Given the description of an element on the screen output the (x, y) to click on. 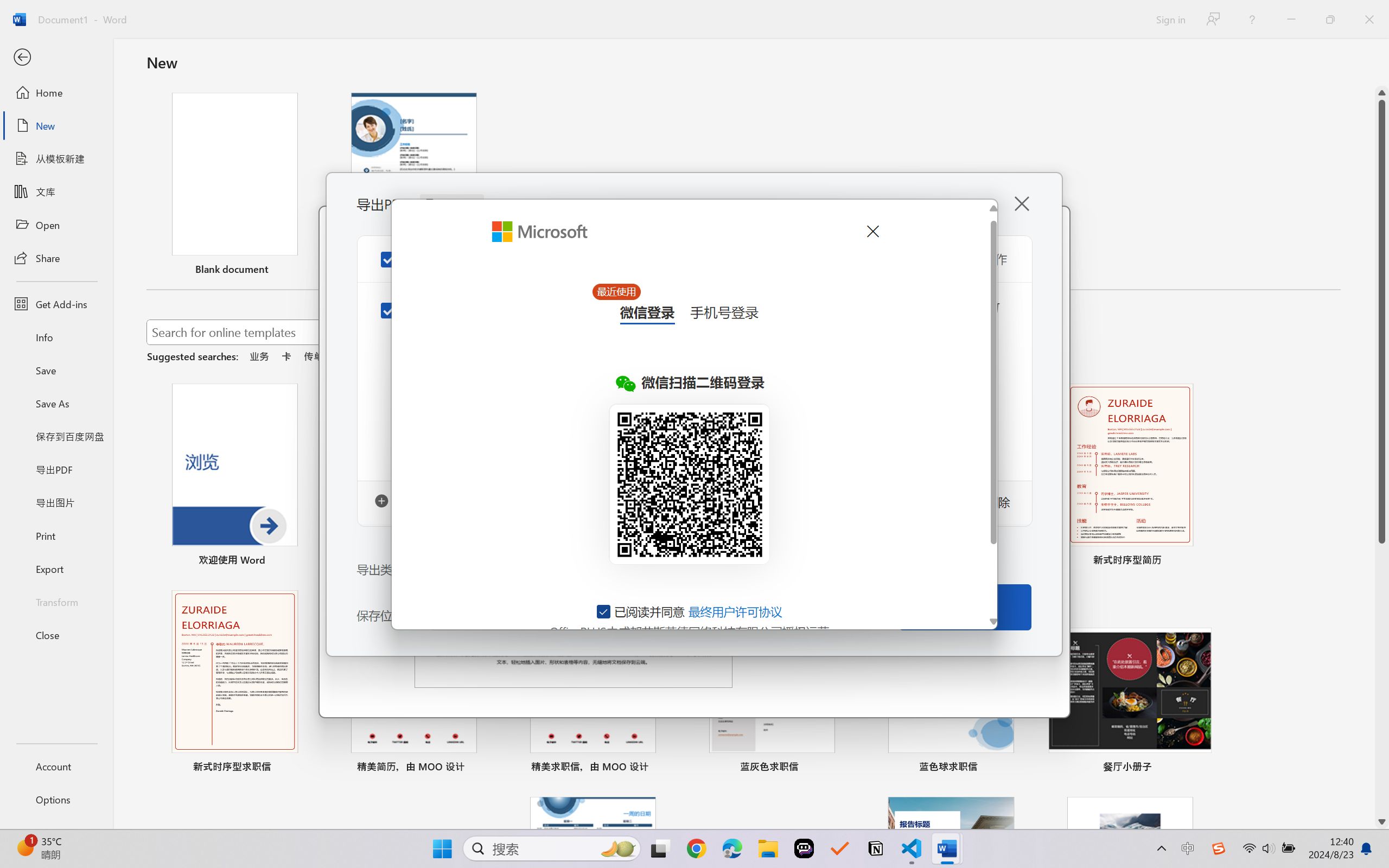
Save As (56, 403)
